Given the description of an element on the screen output the (x, y) to click on. 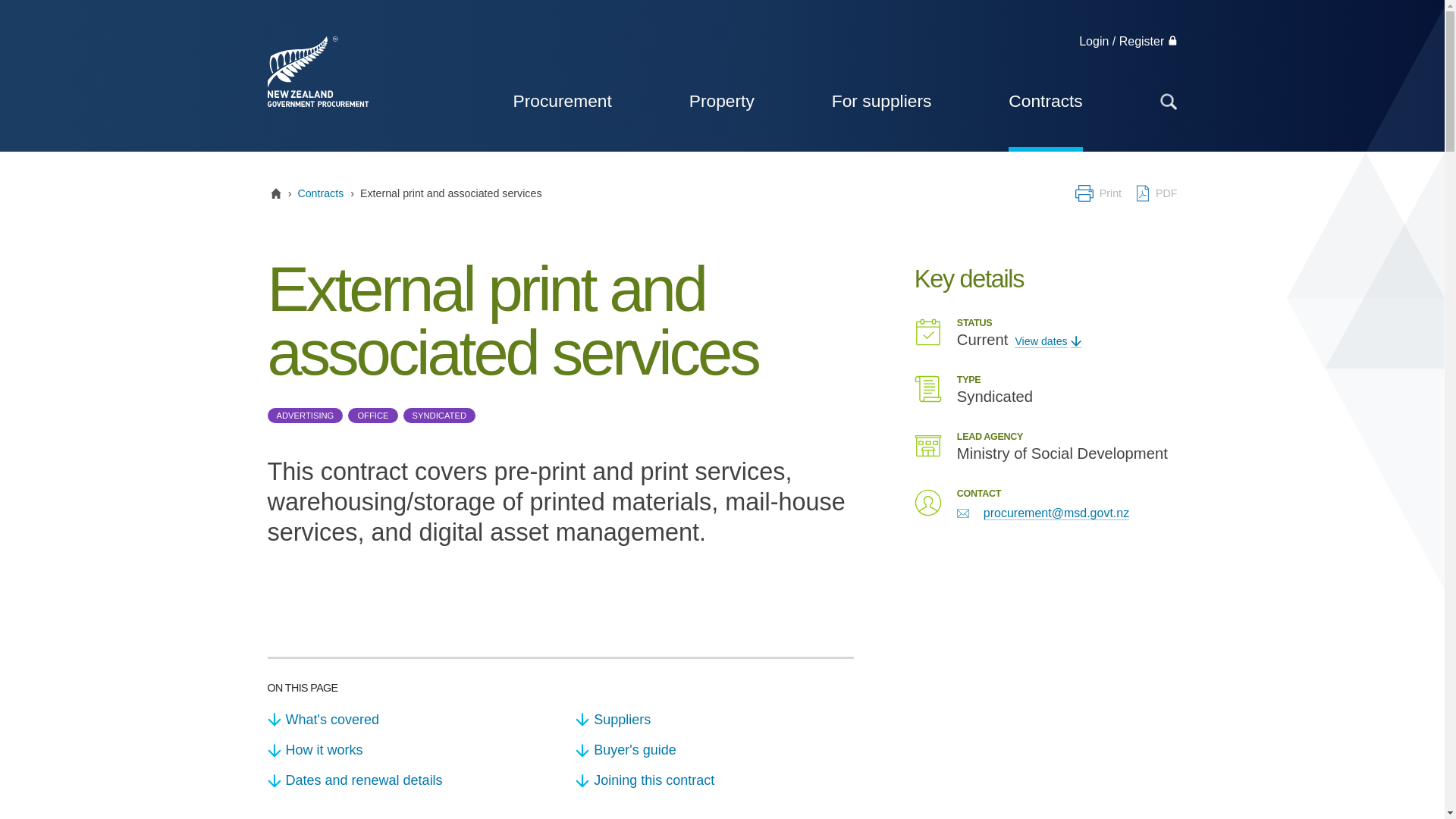
Skip to main content (67, 1)
Contracts (1045, 100)
Dates and renewal details (405, 779)
Contracts (320, 193)
View dates (1047, 340)
Suppliers (714, 719)
How it works (405, 749)
What's covered (405, 719)
For suppliers (881, 100)
Property (721, 100)
PDF (1155, 193)
Joining this contract (714, 779)
Search (1098, 100)
Procurement (561, 100)
Buyer's guide (714, 749)
